Given the description of an element on the screen output the (x, y) to click on. 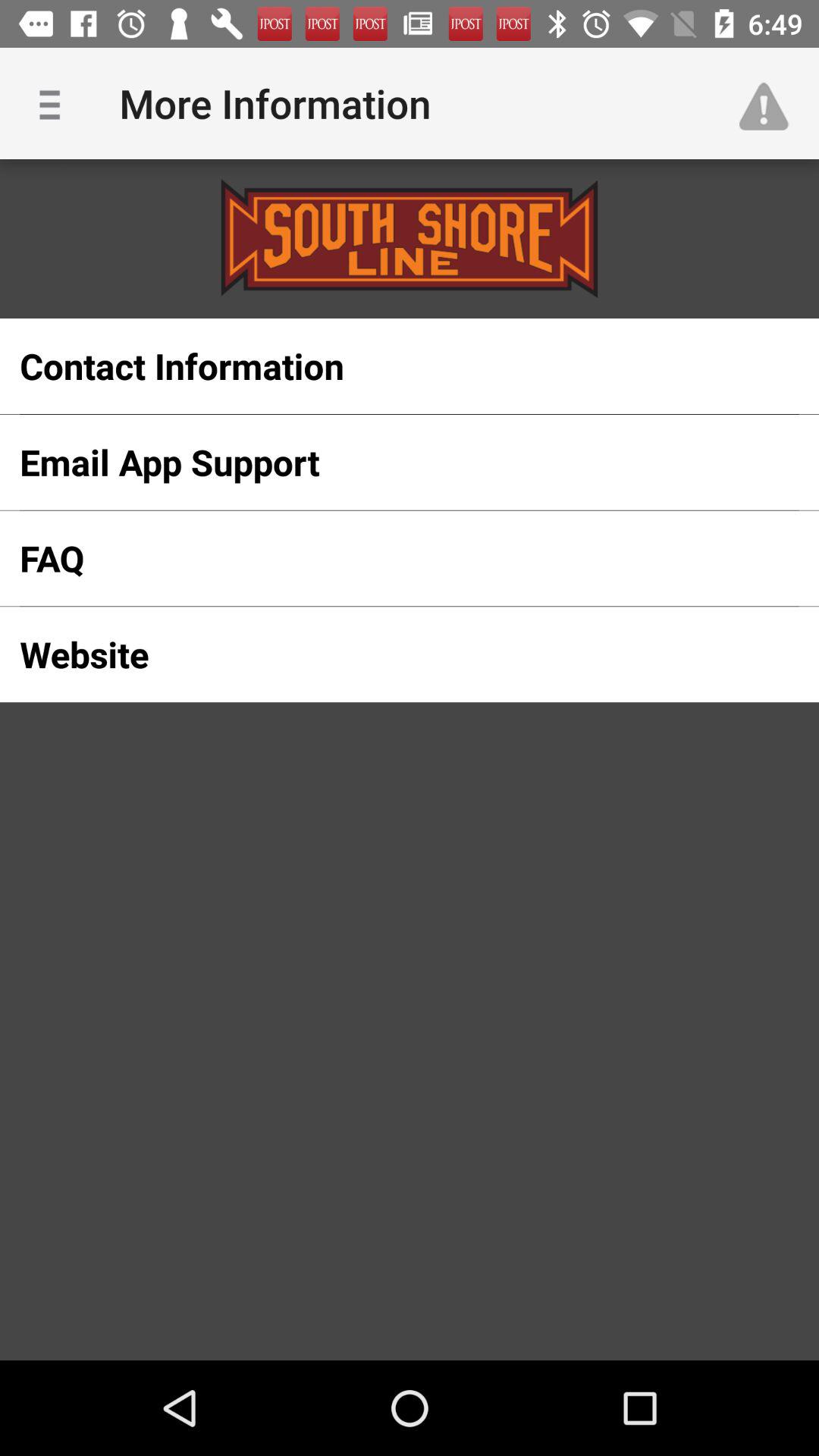
swipe until the email app support item (385, 462)
